Given the description of an element on the screen output the (x, y) to click on. 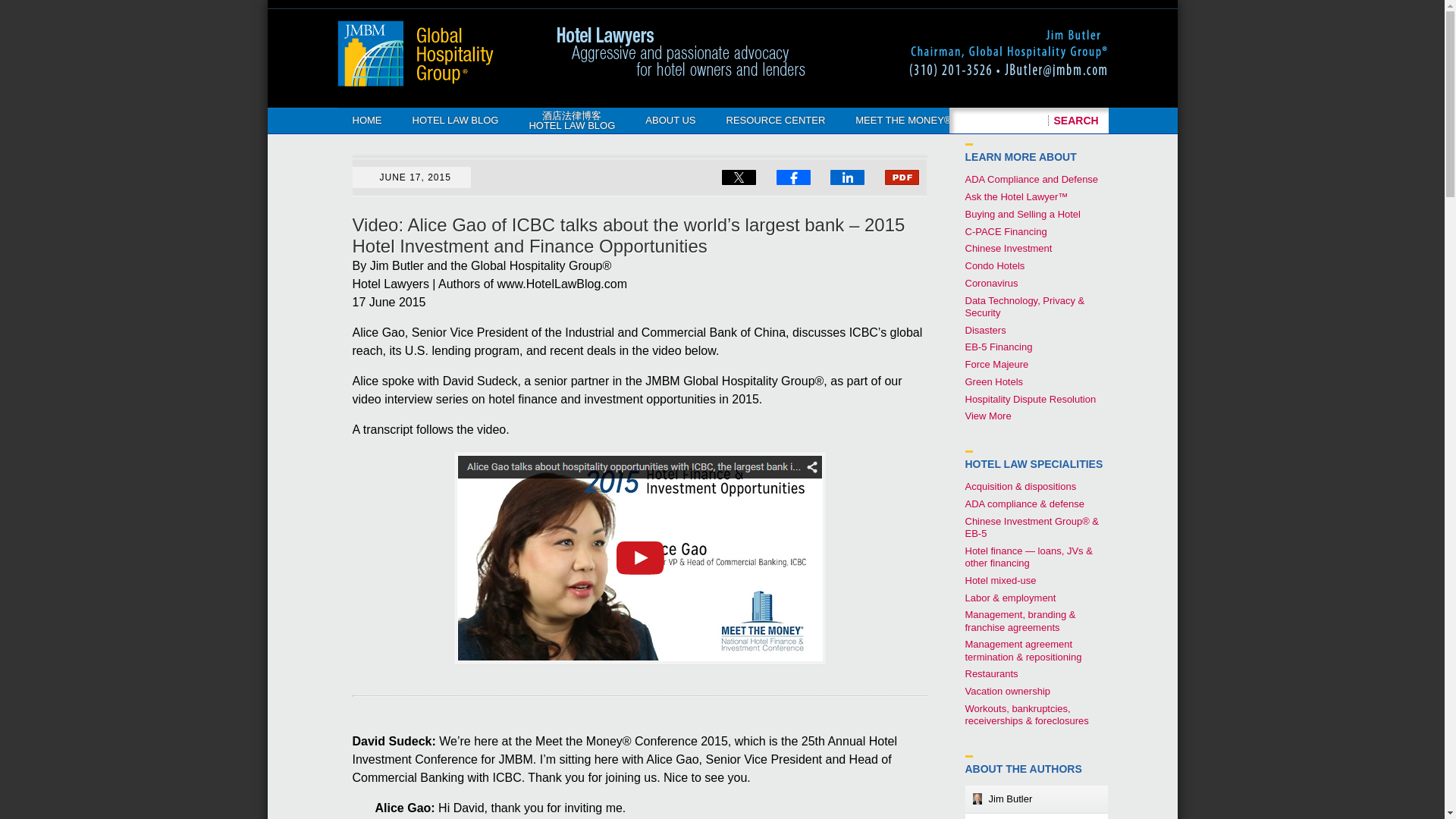
ADA Compliance and Defense (1030, 179)
EB-5 Financing (997, 346)
HOTEL LAW BLOG (455, 120)
Chinese Investment (1007, 247)
Green Hotels (993, 381)
HOME (366, 120)
Force Majeure (995, 364)
CONTACT US (1012, 120)
Hotel Law Blog (414, 53)
Coronavirus (990, 283)
Condo Hotels (994, 265)
RESOURCE CENTER (776, 120)
SEARCH (1076, 120)
C-PACE Financing (1004, 231)
Hospitality Dispute Resolution (1029, 398)
